Given the description of an element on the screen output the (x, y) to click on. 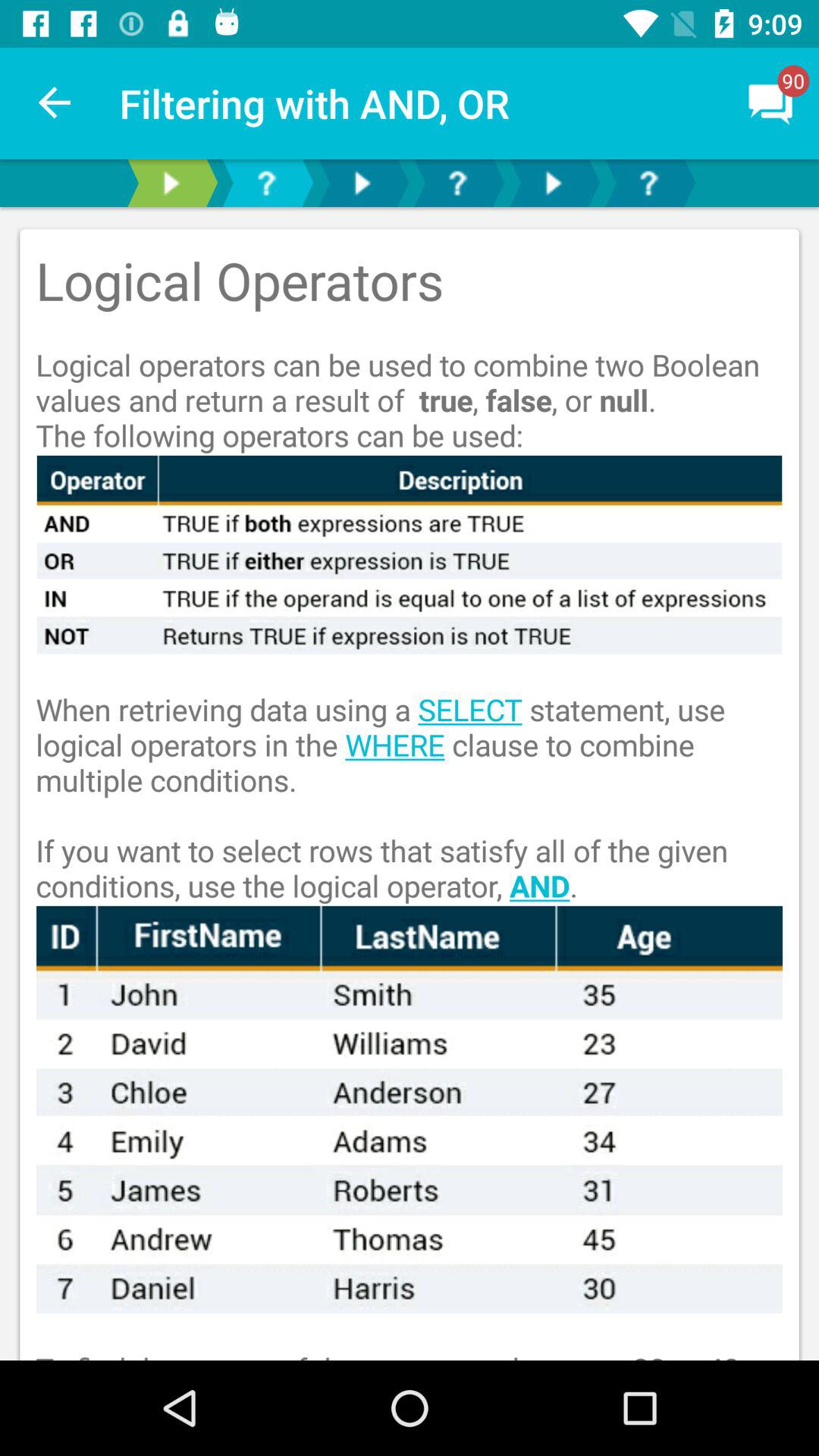
go to question (457, 183)
